Given the description of an element on the screen output the (x, y) to click on. 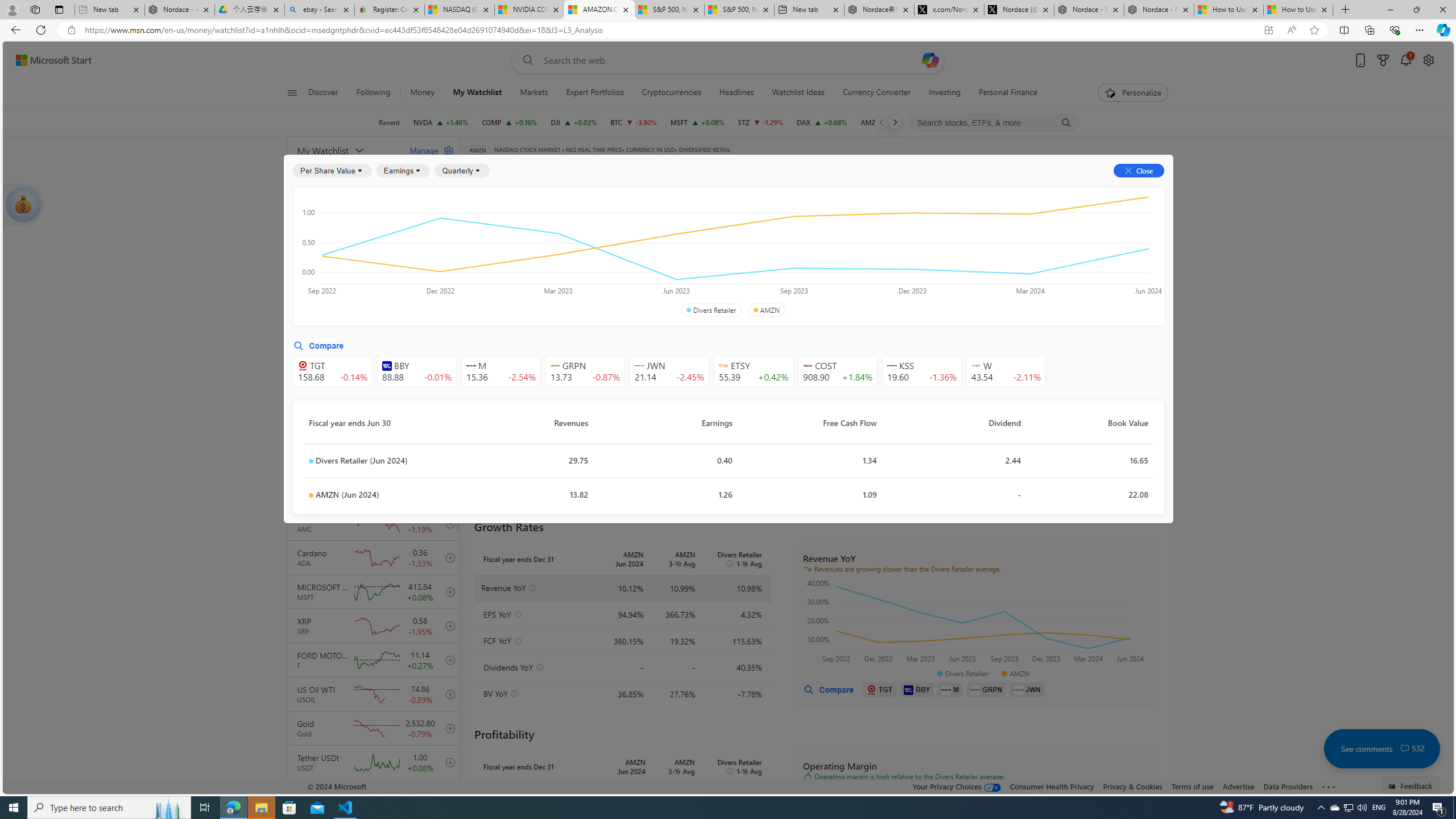
Compare (827, 689)
show card (22, 204)
GRPN (986, 689)
Cryptocurrencies (670, 92)
Class: symbolDot-DS-EntryPoint1-2 (310, 495)
Next (895, 122)
Per Share Values (531, 253)
App available. Install Start Money (1268, 29)
